Given the description of an element on the screen output the (x, y) to click on. 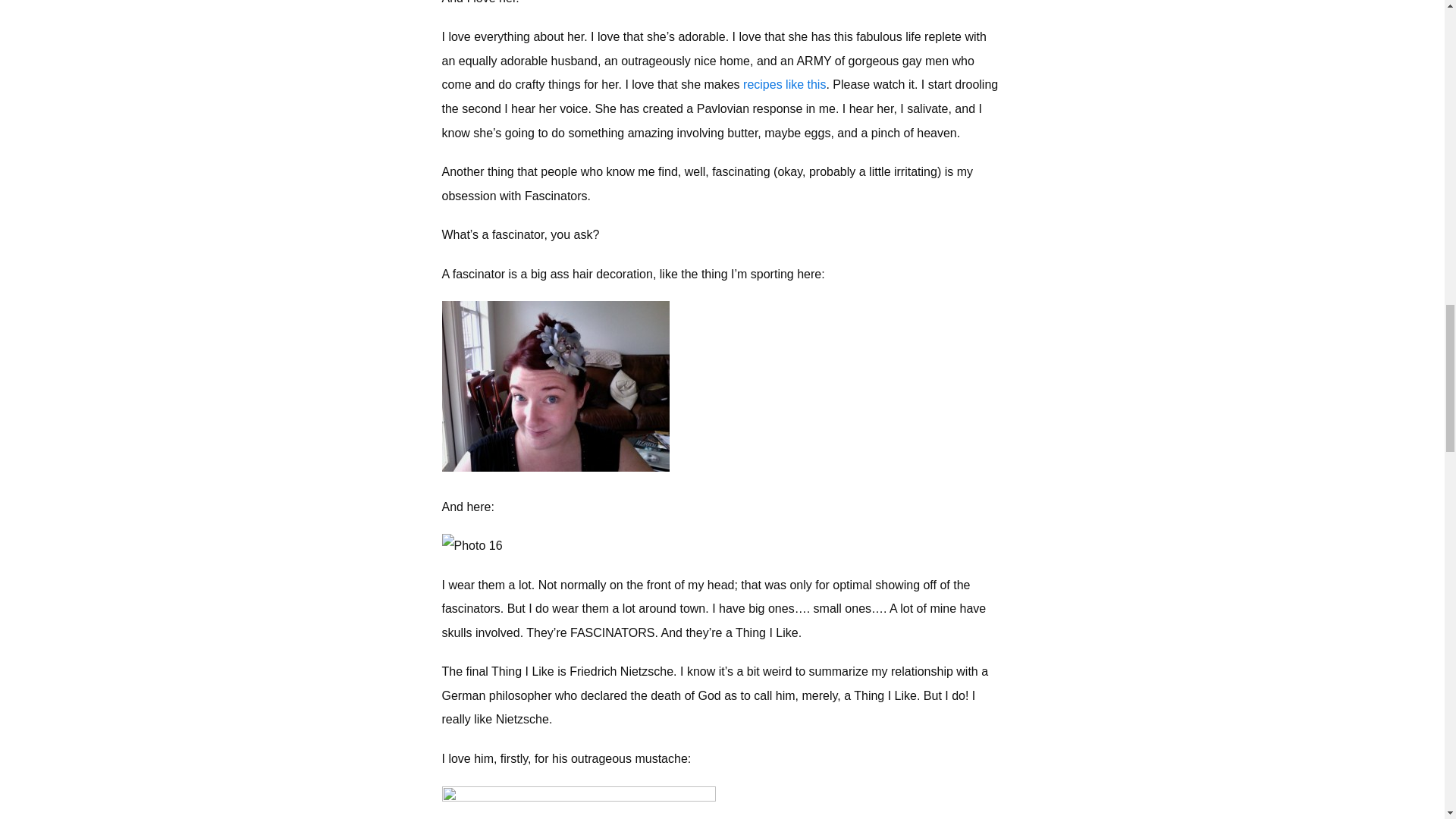
Photo 15 (554, 386)
Photo 16 (471, 545)
recipes like this (783, 83)
